Given the description of an element on the screen output the (x, y) to click on. 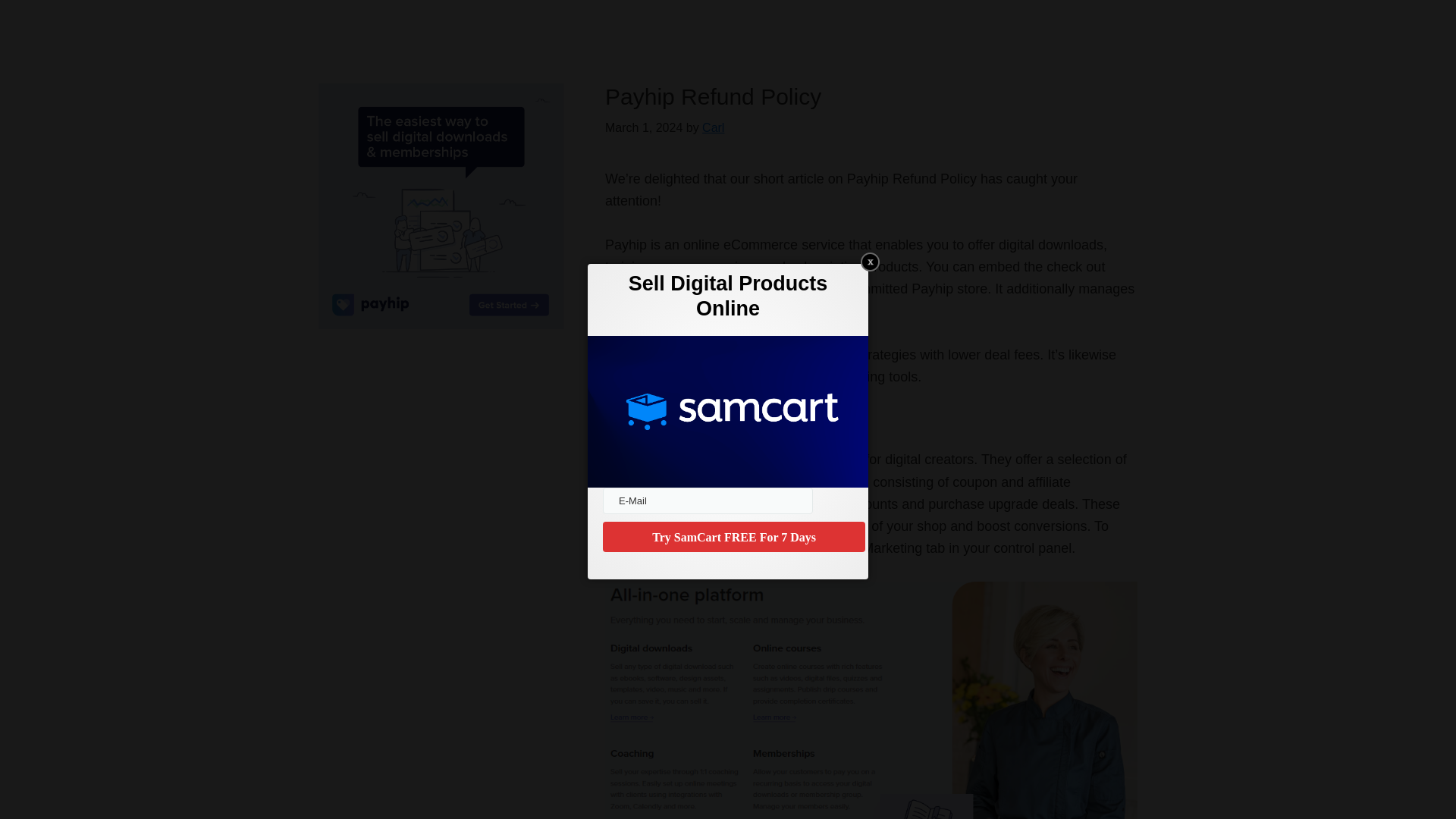
Try SamCart FREE For 7 Days (733, 536)
Carl (712, 127)
Try SamCart FREE For 7 Days (733, 536)
